Given the description of an element on the screen output the (x, y) to click on. 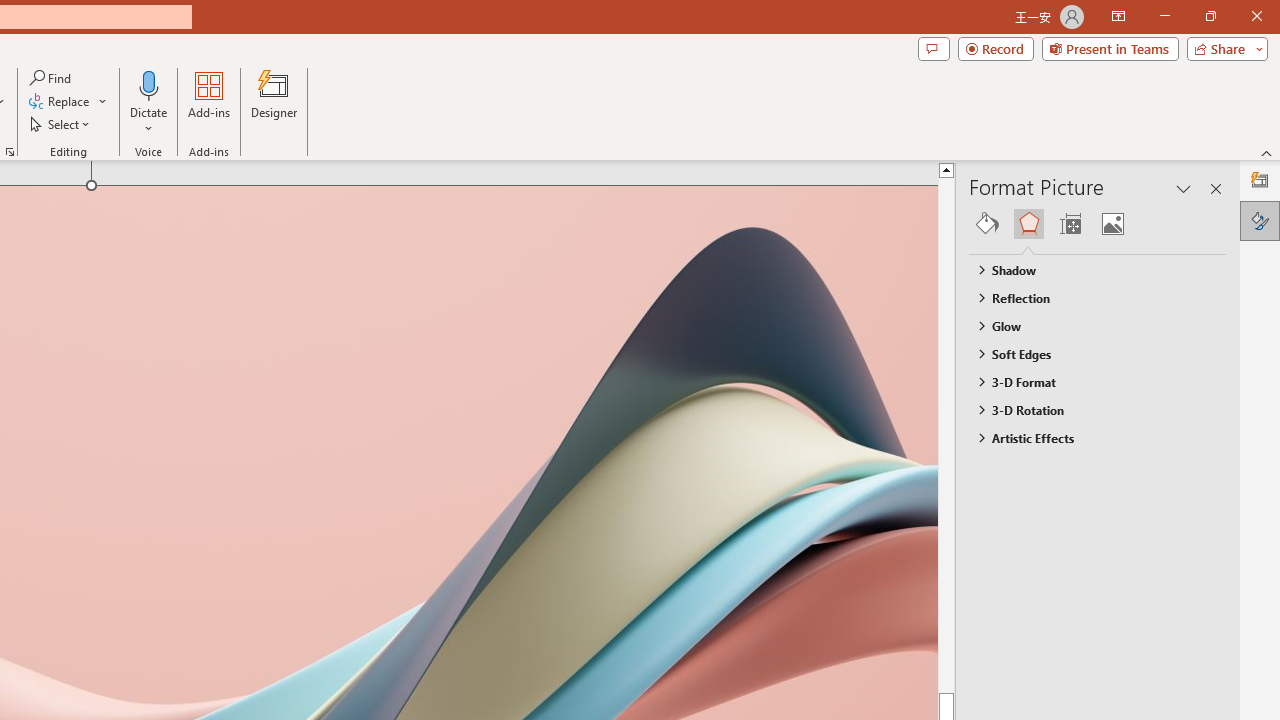
Fill & Line (987, 223)
3-D Rotation (1088, 410)
Size & Properties (1070, 223)
